Given the description of an element on the screen output the (x, y) to click on. 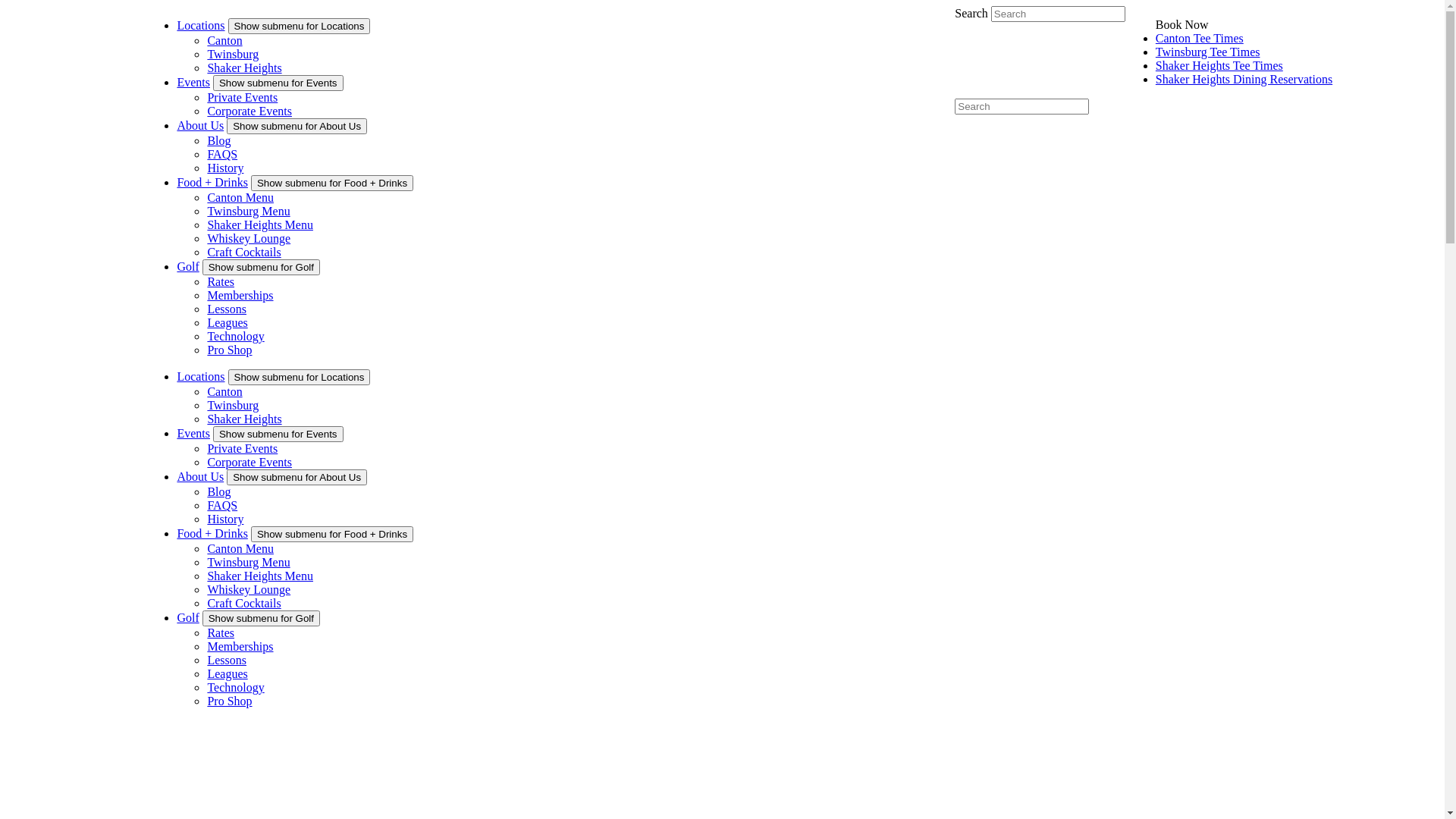
Shaker Heights Dining Reservations Element type: text (1243, 78)
Lessons Element type: text (226, 659)
Show submenu for Events Element type: text (278, 434)
Lessons Element type: text (226, 308)
Blog Element type: text (218, 140)
Show submenu for Golf Element type: text (261, 618)
Show submenu for Golf Element type: text (261, 267)
FAQS Element type: text (222, 153)
Blog Element type: text (218, 491)
Corporate Events Element type: text (249, 110)
Golf Element type: text (187, 266)
Show submenu for About Us Element type: text (296, 477)
Show submenu for Locations Element type: text (298, 377)
Canton Element type: text (224, 40)
Food + Drinks Element type: text (211, 533)
Leagues Element type: text (227, 673)
Technology Element type: text (235, 686)
Twinsburg Element type: text (232, 53)
Leagues Element type: text (227, 322)
Show submenu for Food + Drinks Element type: text (332, 183)
Whiskey Lounge Element type: text (248, 589)
About Us Element type: text (199, 476)
FAQS Element type: text (222, 504)
Shaker Heights Tee Times Element type: text (1219, 65)
Shaker Heights Menu Element type: text (260, 575)
Twinsburg Menu Element type: text (248, 210)
Whiskey Lounge Element type: text (248, 238)
Show submenu for Events Element type: text (278, 83)
Rates Element type: text (220, 632)
Show submenu for About Us Element type: text (296, 126)
Show submenu for Food + Drinks Element type: text (332, 534)
Food + Drinks Element type: text (211, 181)
Technology Element type: text (235, 335)
Private Events Element type: text (242, 97)
Show submenu for Locations Element type: text (298, 26)
Pro Shop Element type: text (229, 349)
Shaker Heights Element type: text (244, 67)
Golf Element type: text (187, 617)
Shaker Heights Menu Element type: text (260, 224)
Craft Cocktails Element type: text (243, 251)
Canton Menu Element type: text (240, 548)
Locations Element type: text (200, 376)
Pro Shop Element type: text (229, 700)
Locations Element type: text (200, 24)
Twinsburg Menu Element type: text (248, 561)
Craft Cocktails Element type: text (243, 602)
Private Events Element type: text (242, 448)
Corporate Events Element type: text (249, 461)
Shaker Heights Element type: text (244, 418)
Twinsburg Tee Times Element type: text (1207, 51)
Events Element type: text (193, 81)
About Us Element type: text (199, 125)
Canton Element type: text (224, 391)
Events Element type: text (193, 432)
History Element type: text (225, 518)
Canton Menu Element type: text (240, 197)
Rates Element type: text (220, 281)
Twinsburg Element type: text (232, 404)
Memberships Element type: text (240, 294)
Canton Tee Times Element type: text (1199, 37)
Memberships Element type: text (240, 646)
History Element type: text (225, 167)
